Given the description of an element on the screen output the (x, y) to click on. 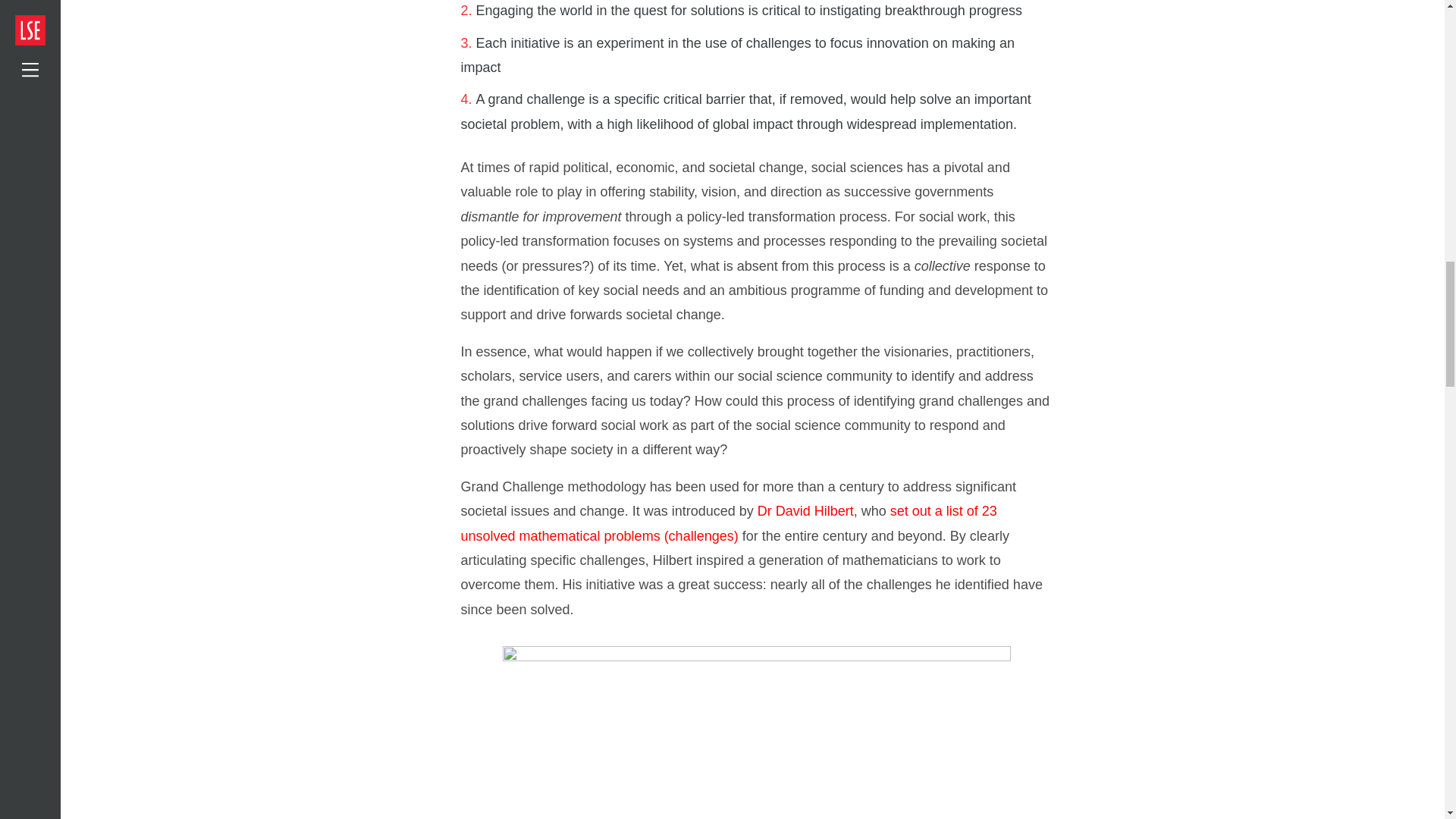
Dr David Hilbert (805, 510)
